Given the description of an element on the screen output the (x, y) to click on. 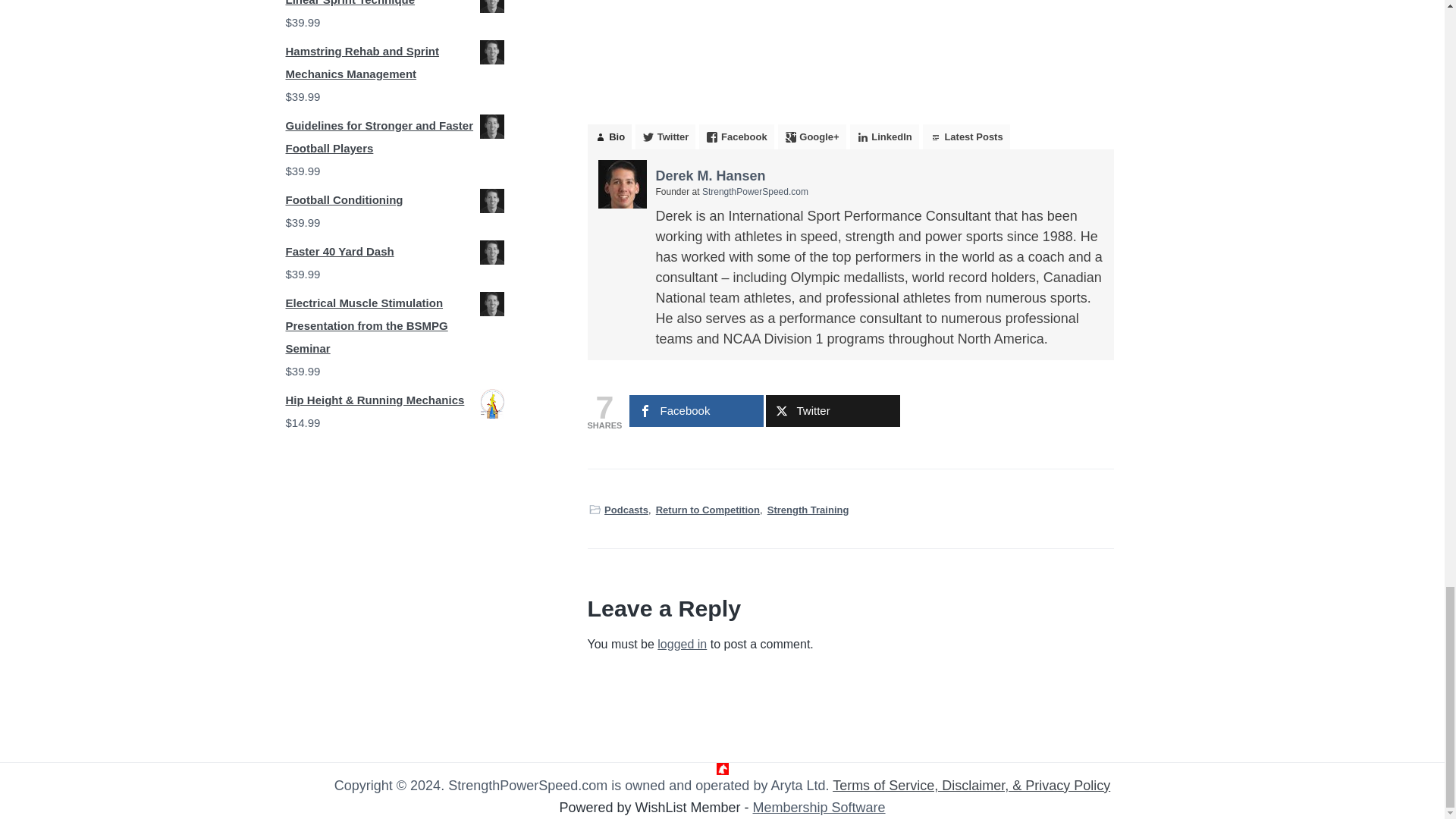
Membership Software (818, 807)
